Given the description of an element on the screen output the (x, y) to click on. 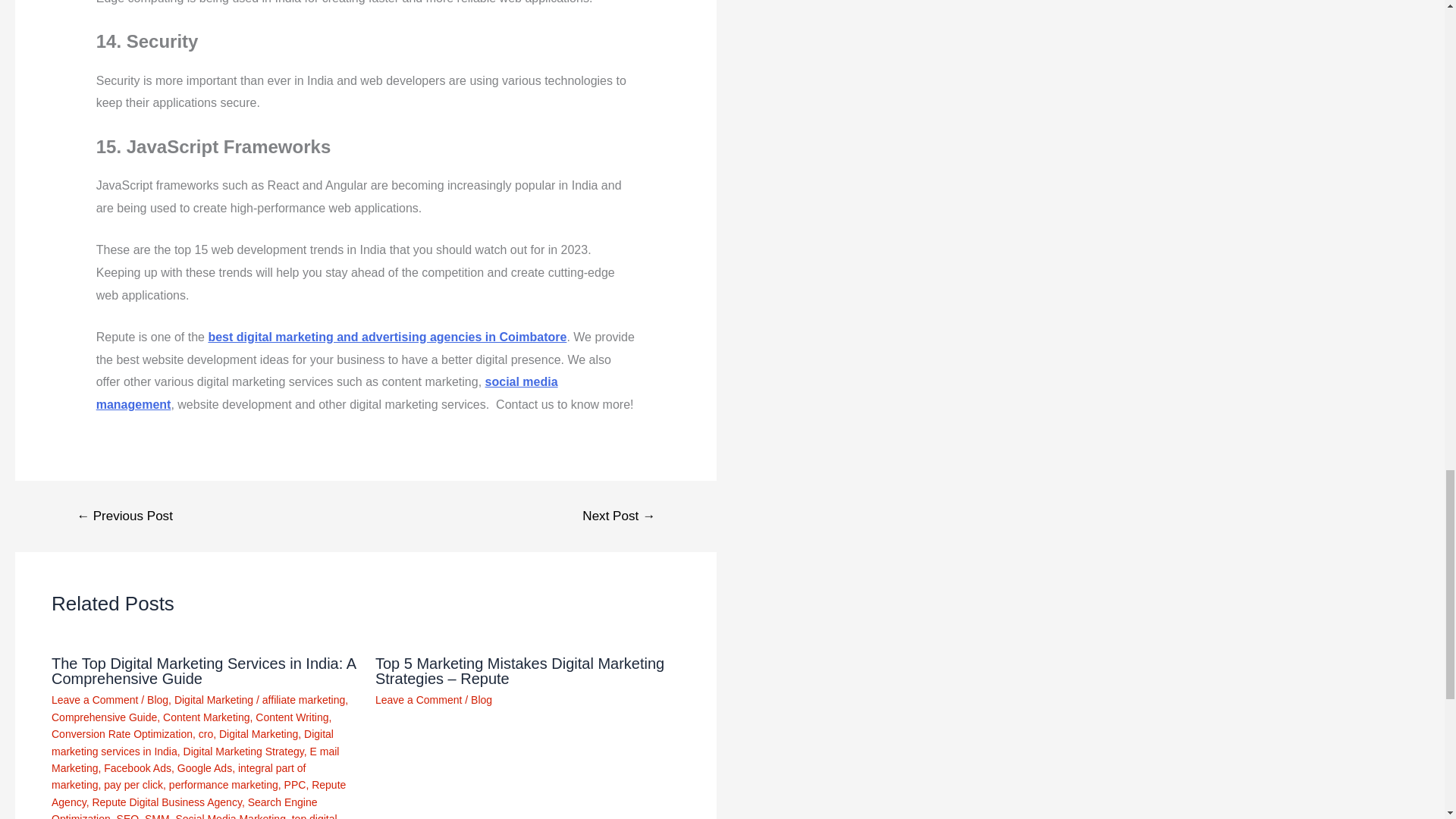
Blog (157, 699)
affiliate marketing (303, 699)
Comprehensive Guide (103, 717)
Digital Marketing (213, 699)
Digital Marketing Strategy (243, 751)
Digital Marketing (258, 734)
E mail Marketing (194, 759)
Content Marketing (205, 717)
social media management (326, 393)
Conversion Rate Optimization (121, 734)
Content Writing (292, 717)
Digital marketing services in India (191, 742)
Facebook Ads (137, 767)
